Given the description of an element on the screen output the (x, y) to click on. 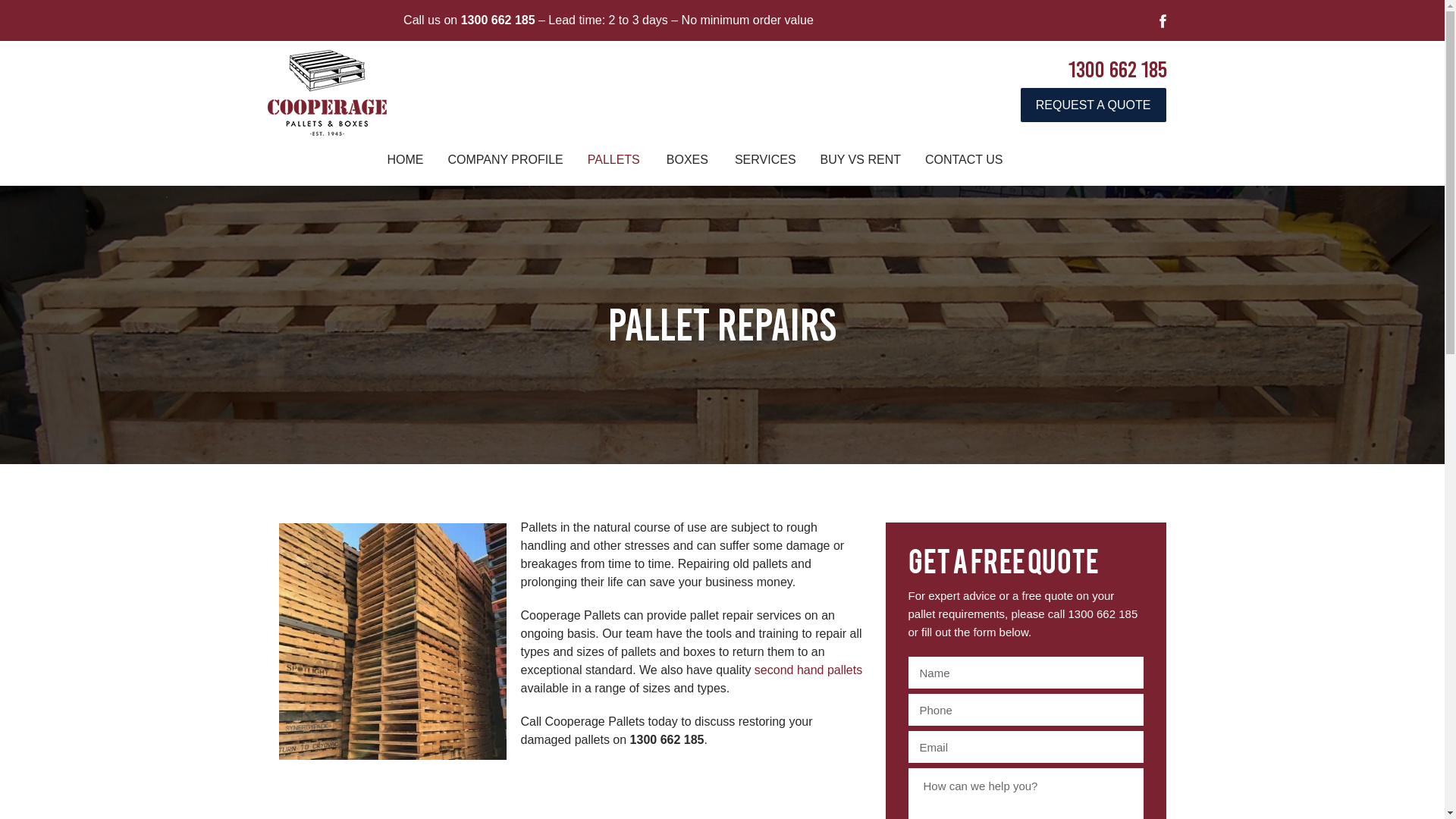
REQUEST A QUOTE Element type: text (1093, 104)
CUSTOM BUILT PALLETS Element type: text (614, 226)
EURO PALLETS Element type: text (614, 359)
PALLET REPAIRS Element type: text (614, 426)
1300 662 185 Element type: text (1102, 613)
1300 662 185 Element type: text (498, 19)
PLASTIC PALLETS Element type: text (614, 326)
PALLETS Element type: text (614, 159)
BOXES Element type: text (688, 159)
HOME Element type: text (404, 159)
USED PALLETS Element type: text (614, 259)
STANDARD PALLETS Element type: text (614, 193)
second hand pallets Element type: text (808, 669)
COMPANY PROFILE Element type: text (504, 159)
EXPORT/HEAT TREATED PALLETS Element type: text (614, 293)
BUY VS RENT Element type: text (860, 159)
CONTACT US Element type: text (964, 159)
HEAT TREATED PALLETS Element type: text (614, 393)
BOXES Element type: text (688, 193)
SERVICES Element type: text (765, 159)
1300 662 185 Element type: text (1116, 69)
CRATES Element type: text (688, 226)
